Given the description of an element on the screen output the (x, y) to click on. 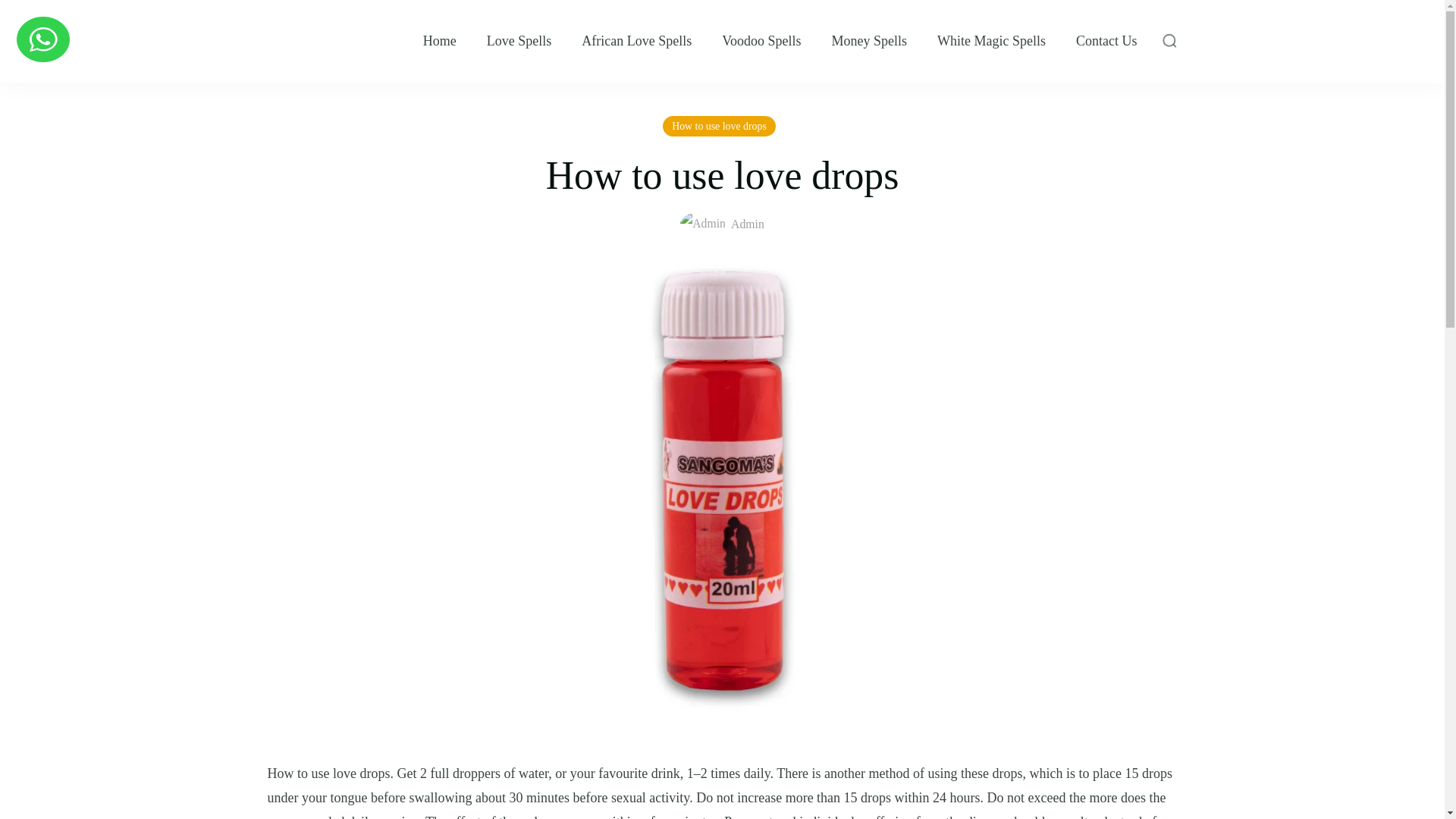
How to use love drops (719, 126)
White Magic Spells (991, 41)
Home (440, 41)
Love Spells (518, 41)
Money Spells (869, 41)
African Love Spells (635, 41)
Contact Us (1106, 41)
Voodoo Spells (761, 41)
Admin (721, 223)
